Given the description of an element on the screen output the (x, y) to click on. 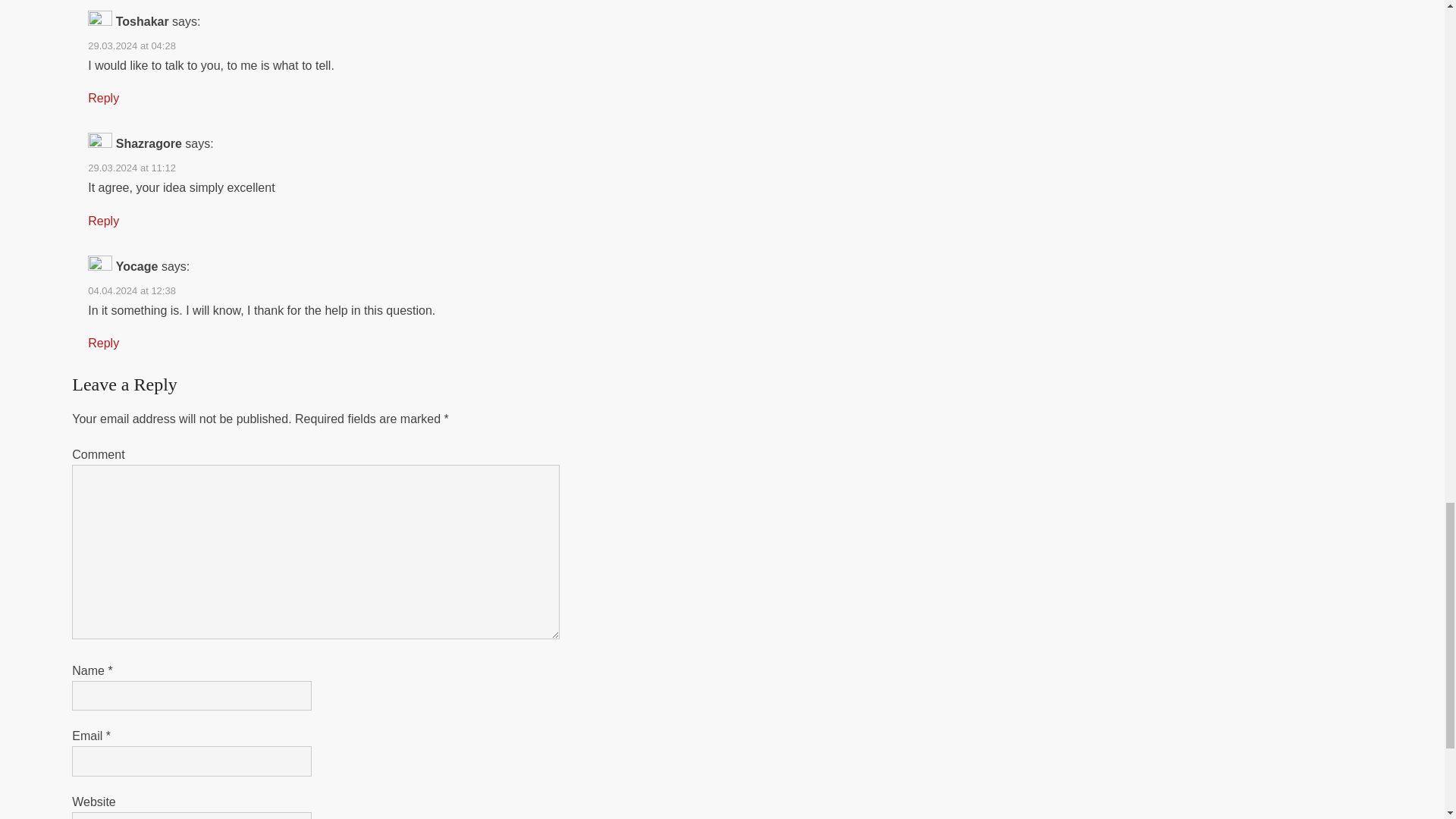
29.03.2024 at 04:28 (131, 45)
Reply (103, 342)
29.03.2024 at 11:12 (131, 167)
04.04.2024 at 12:38 (131, 290)
Reply (103, 97)
Reply (103, 220)
